Given the description of an element on the screen output the (x, y) to click on. 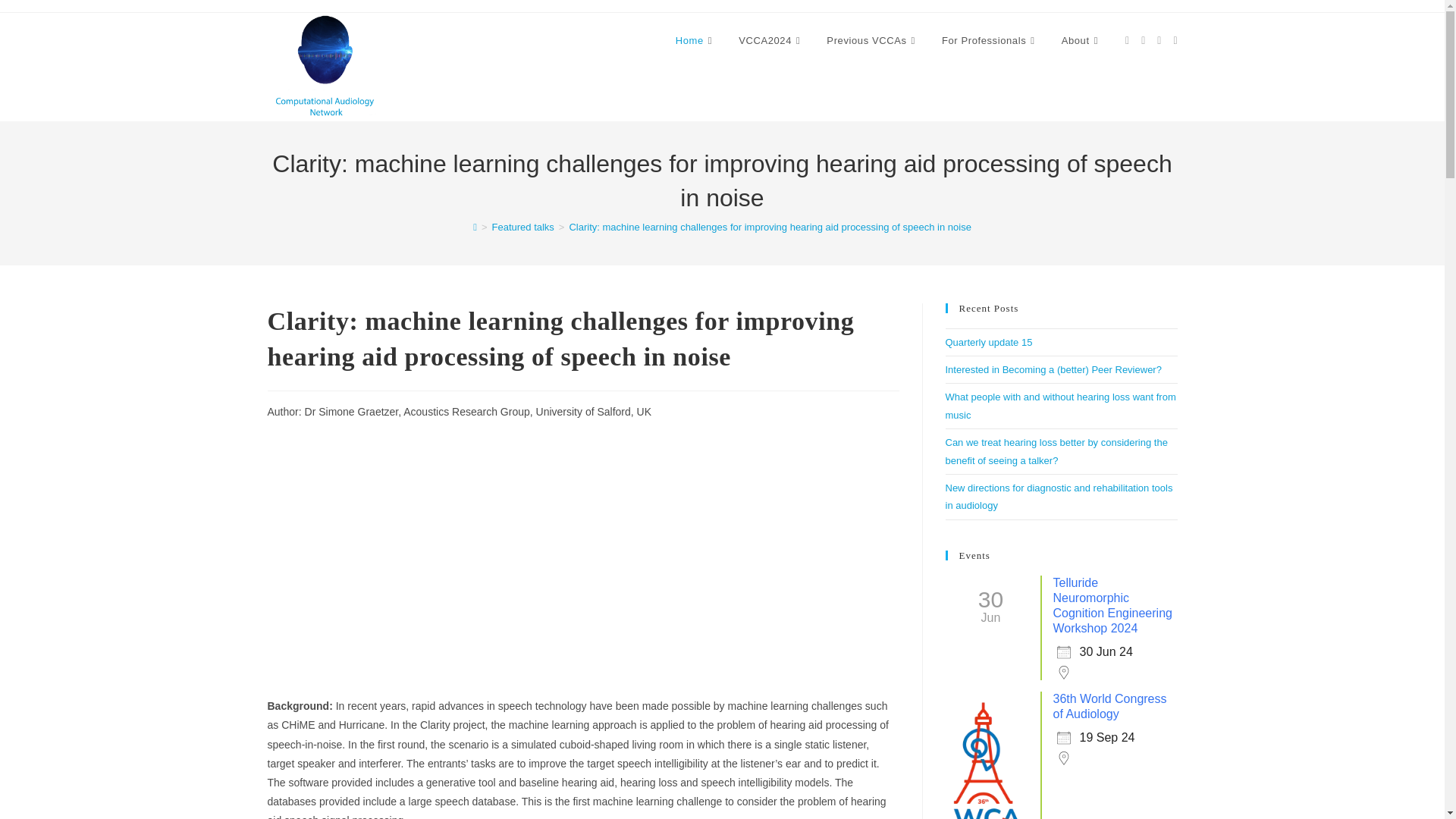
VCCA2024 (770, 40)
Previous VCCAs (872, 40)
Home (694, 40)
